Given the description of an element on the screen output the (x, y) to click on. 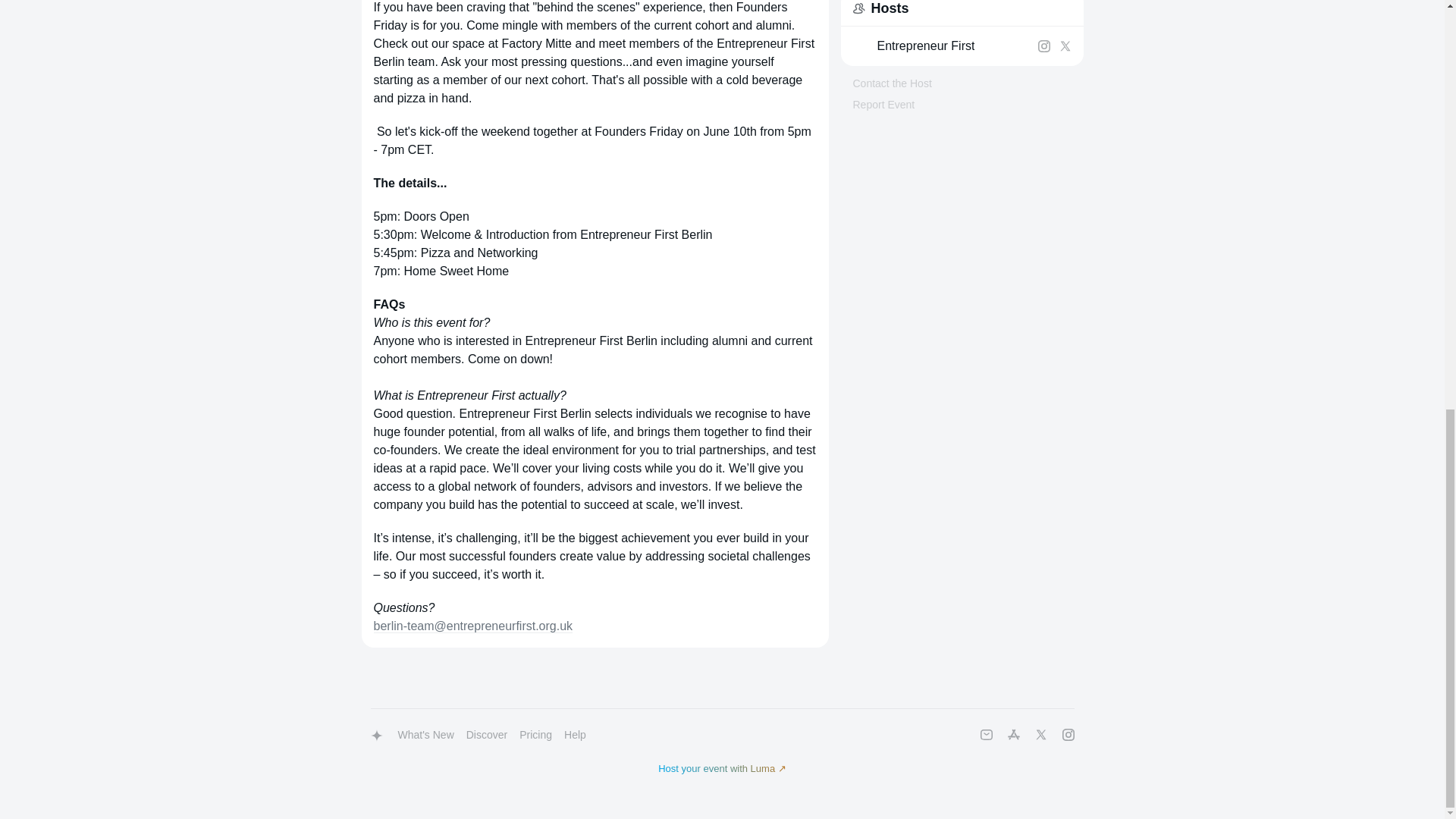
Entrepreneur First (940, 45)
Discover (486, 735)
Report Event (882, 104)
Help (574, 735)
What's New (425, 735)
Pricing (535, 735)
Entrepreneur First (925, 45)
Contact the Host (891, 82)
